Given the description of an element on the screen output the (x, y) to click on. 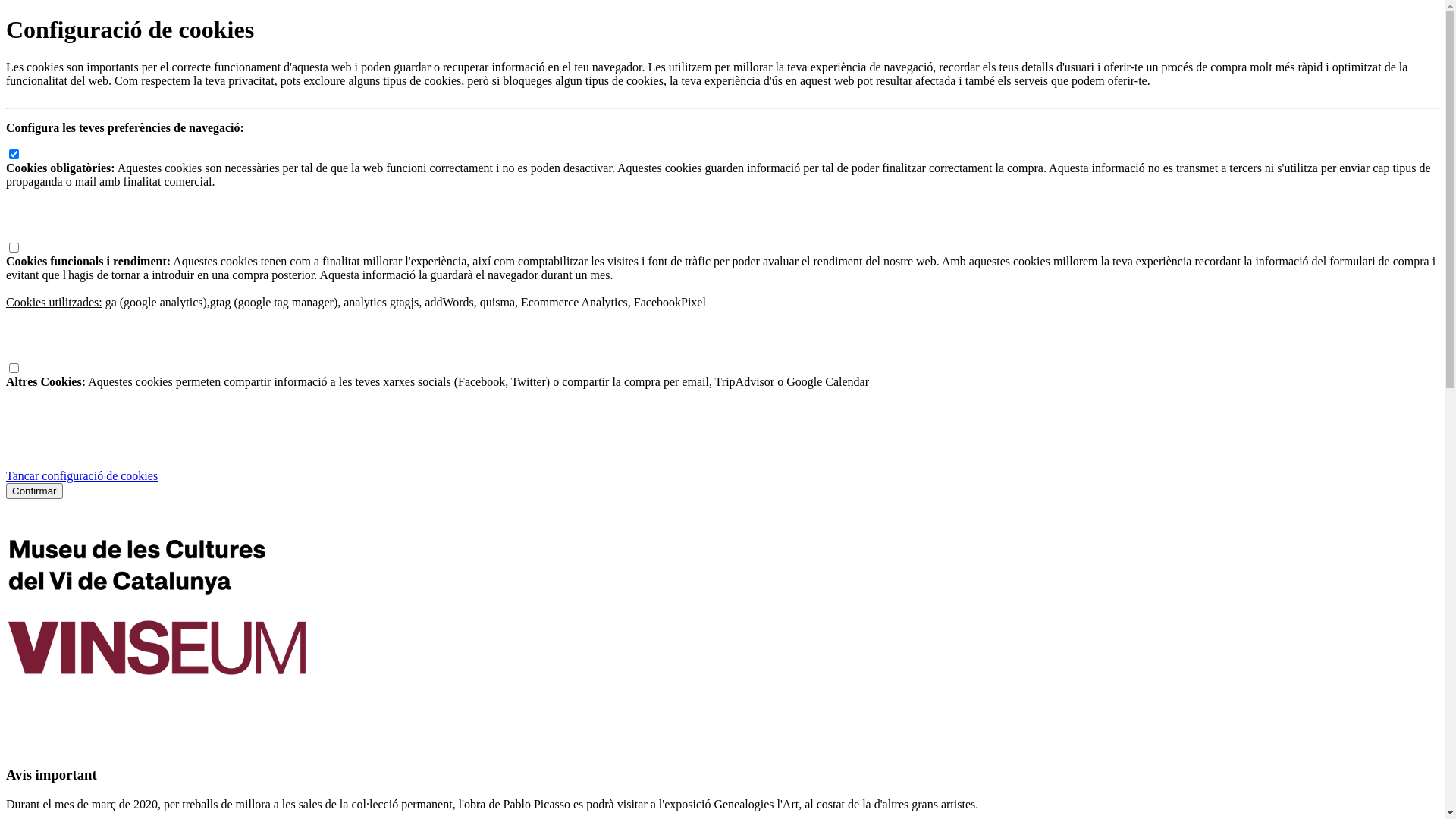
on Element type: text (13, 154)
Confirmar Element type: text (34, 490)
